Given the description of an element on the screen output the (x, y) to click on. 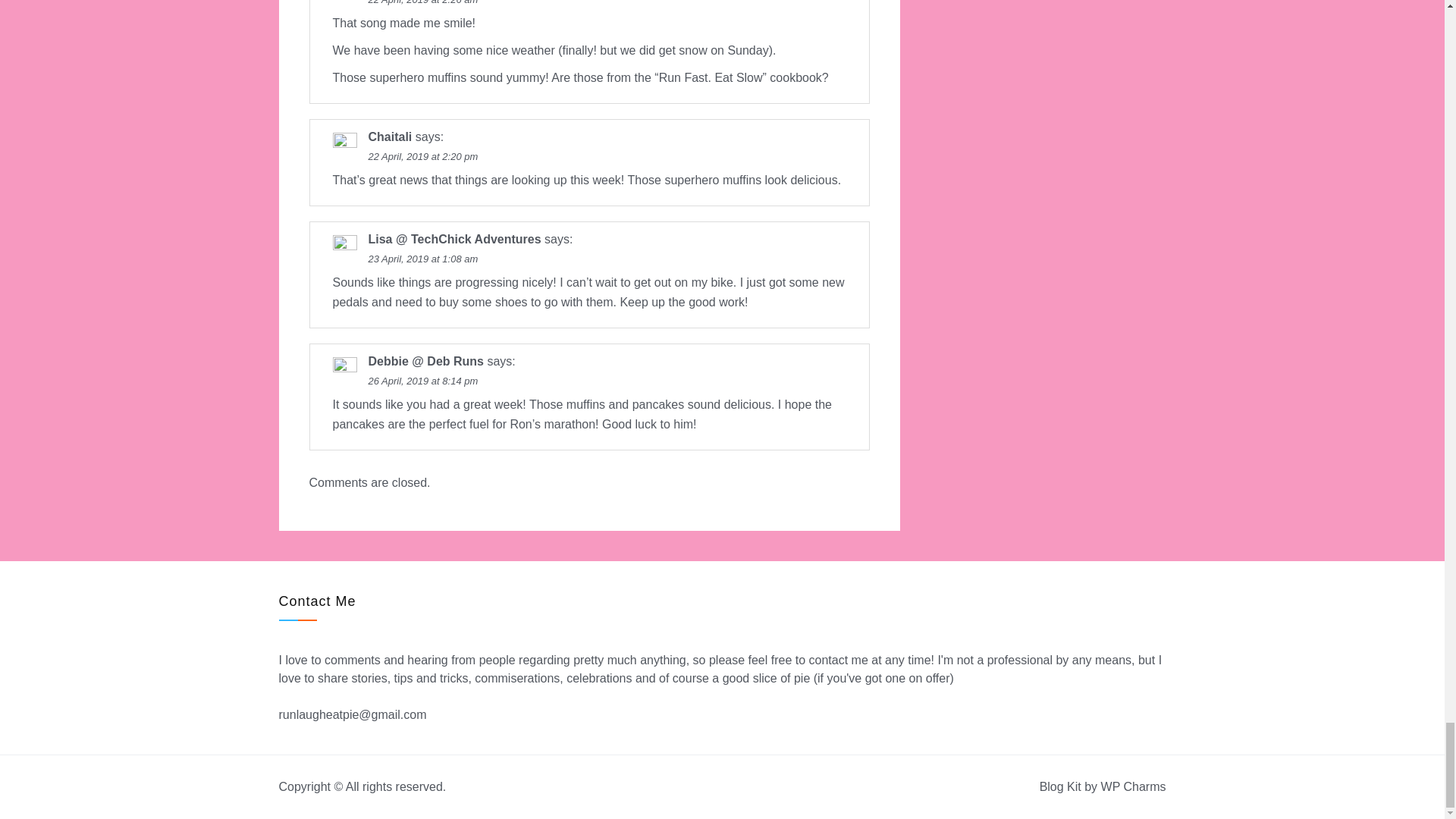
22 April, 2019 at 2:26 am (423, 2)
22 April, 2019 at 2:20 pm (423, 156)
WP Charms (1133, 786)
23 April, 2019 at 1:08 am (423, 258)
26 April, 2019 at 8:14 pm (423, 380)
Chaitali (390, 136)
